Given the description of an element on the screen output the (x, y) to click on. 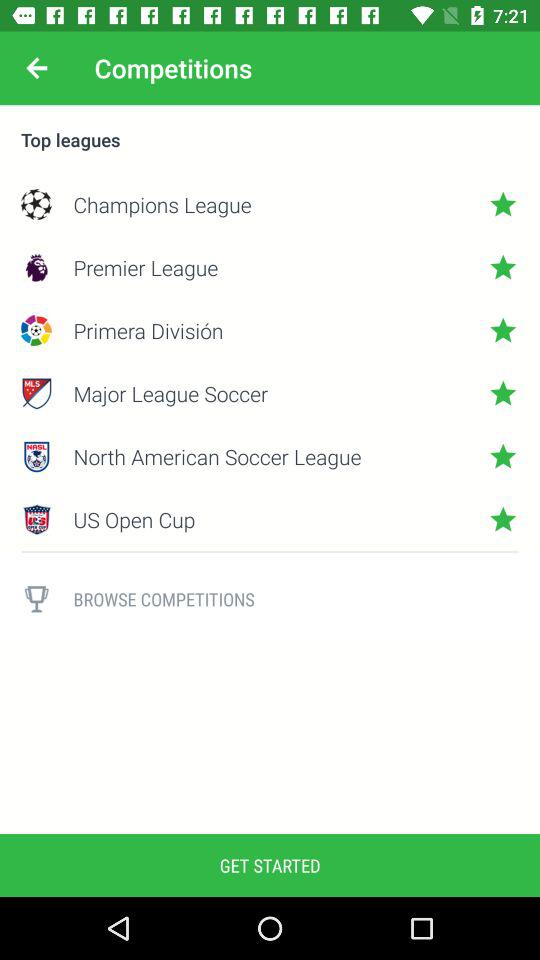
open icon above the premier league item (269, 204)
